Given the description of an element on the screen output the (x, y) to click on. 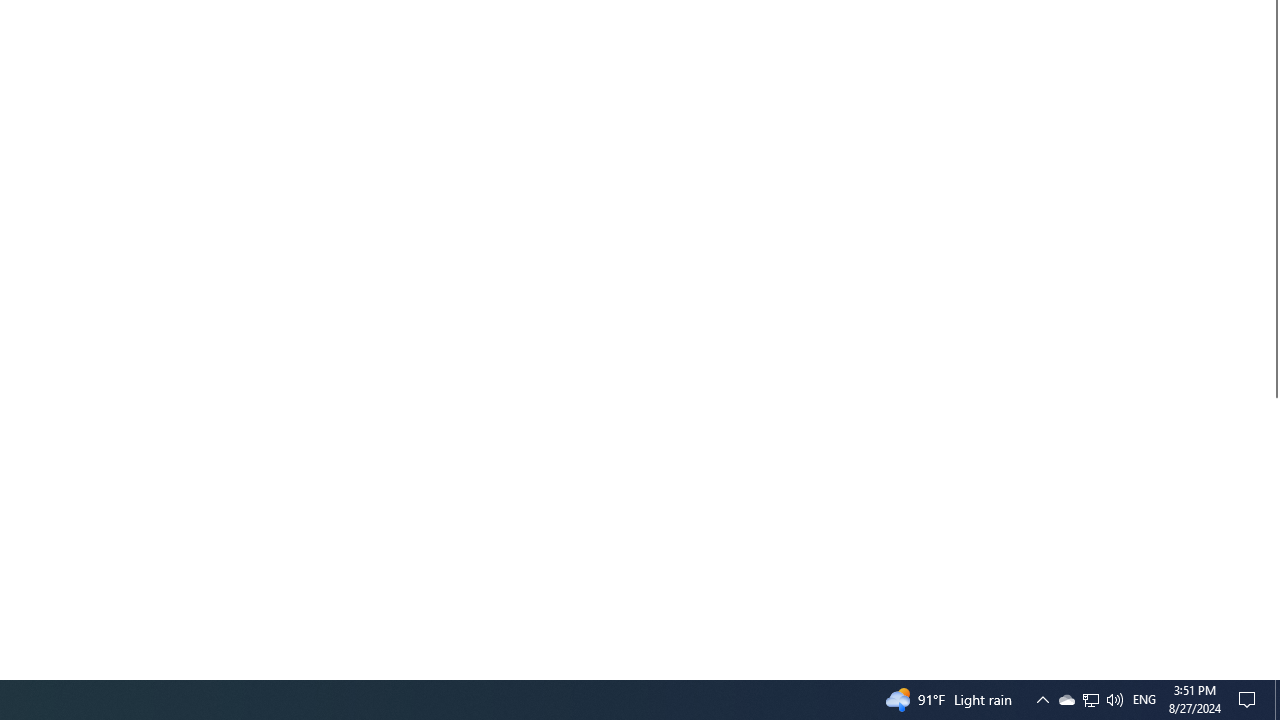
Q2790: 100% (1114, 699)
User Promoted Notification Area (1091, 699)
Action Center, No new notifications (1090, 699)
Vertical Large Increase (1250, 699)
Tray Input Indicator - English (United States) (1066, 699)
Notification Chevron (1272, 530)
Show desktop (1144, 699)
Vertical Small Increase (1042, 699)
